Given the description of an element on the screen output the (x, y) to click on. 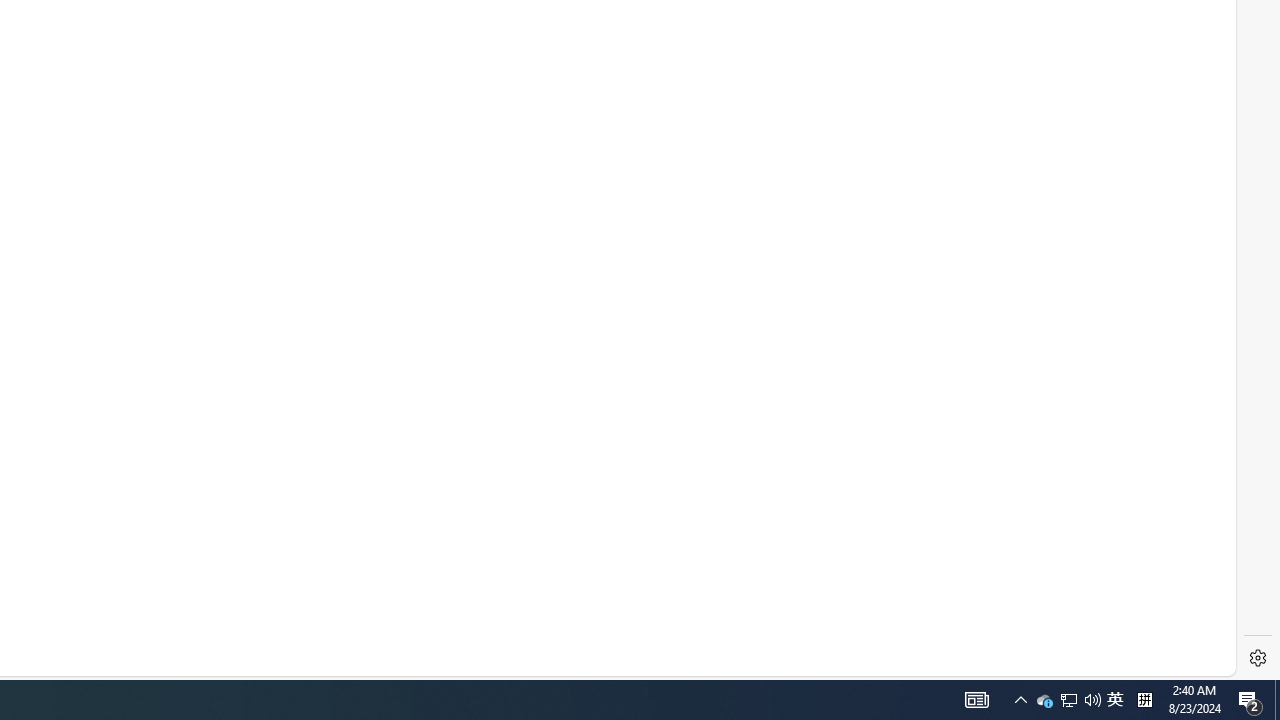
Recycling (536, 632)
Visual Studio (379, 564)
Accessibility Company (553, 532)
Contact Microsoft (122, 632)
Company news (646, 404)
Careers (646, 340)
Sitemap (20, 629)
Azure Developer & IT (272, 339)
Recycling (523, 629)
About Microsoft (646, 372)
Documentation Developer & IT (296, 403)
Contact Microsoft (110, 629)
Microsoft Learn (379, 436)
